Given the description of an element on the screen output the (x, y) to click on. 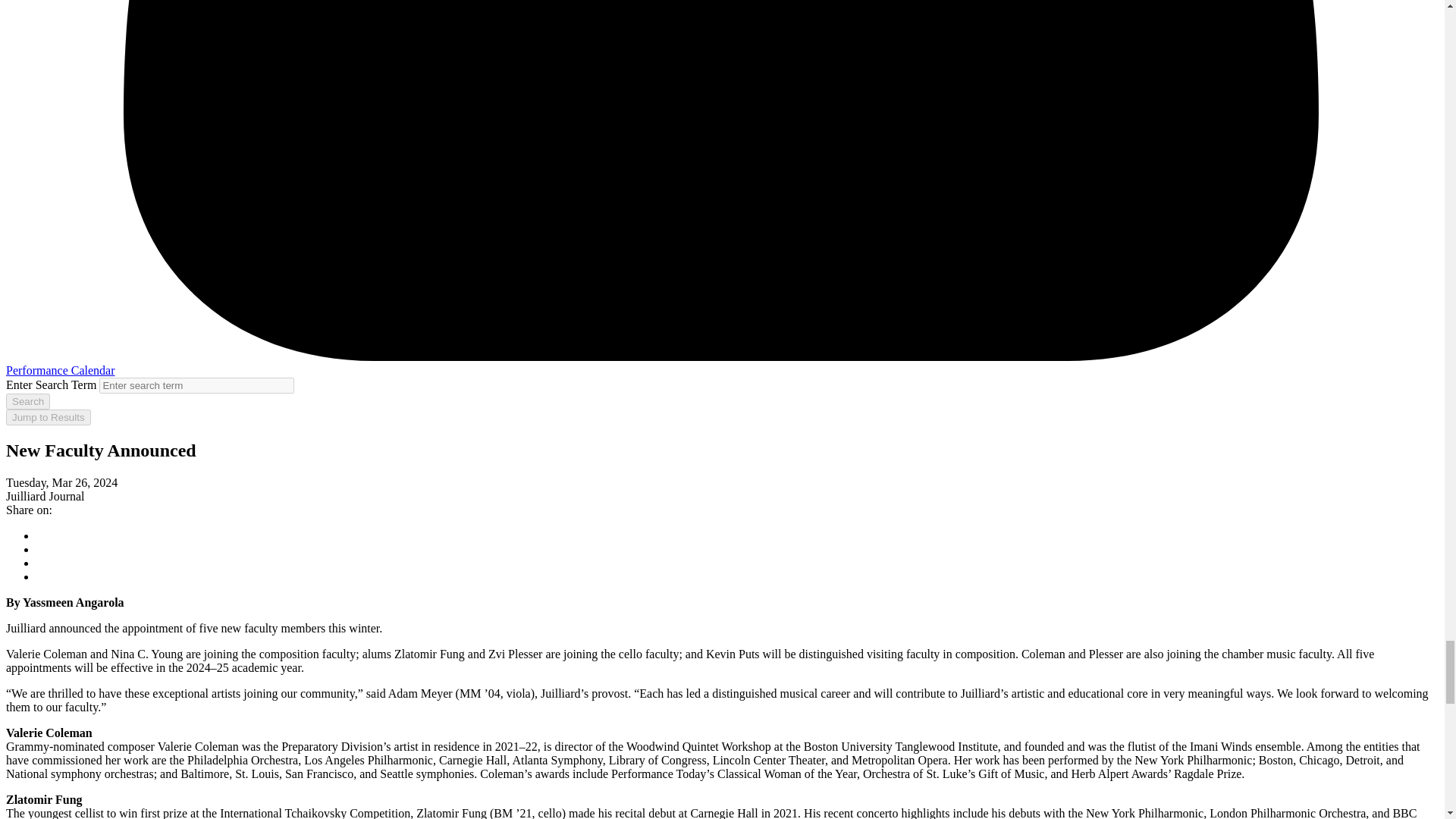
Jump to Results (47, 417)
Search (27, 401)
